Given the description of an element on the screen output the (x, y) to click on. 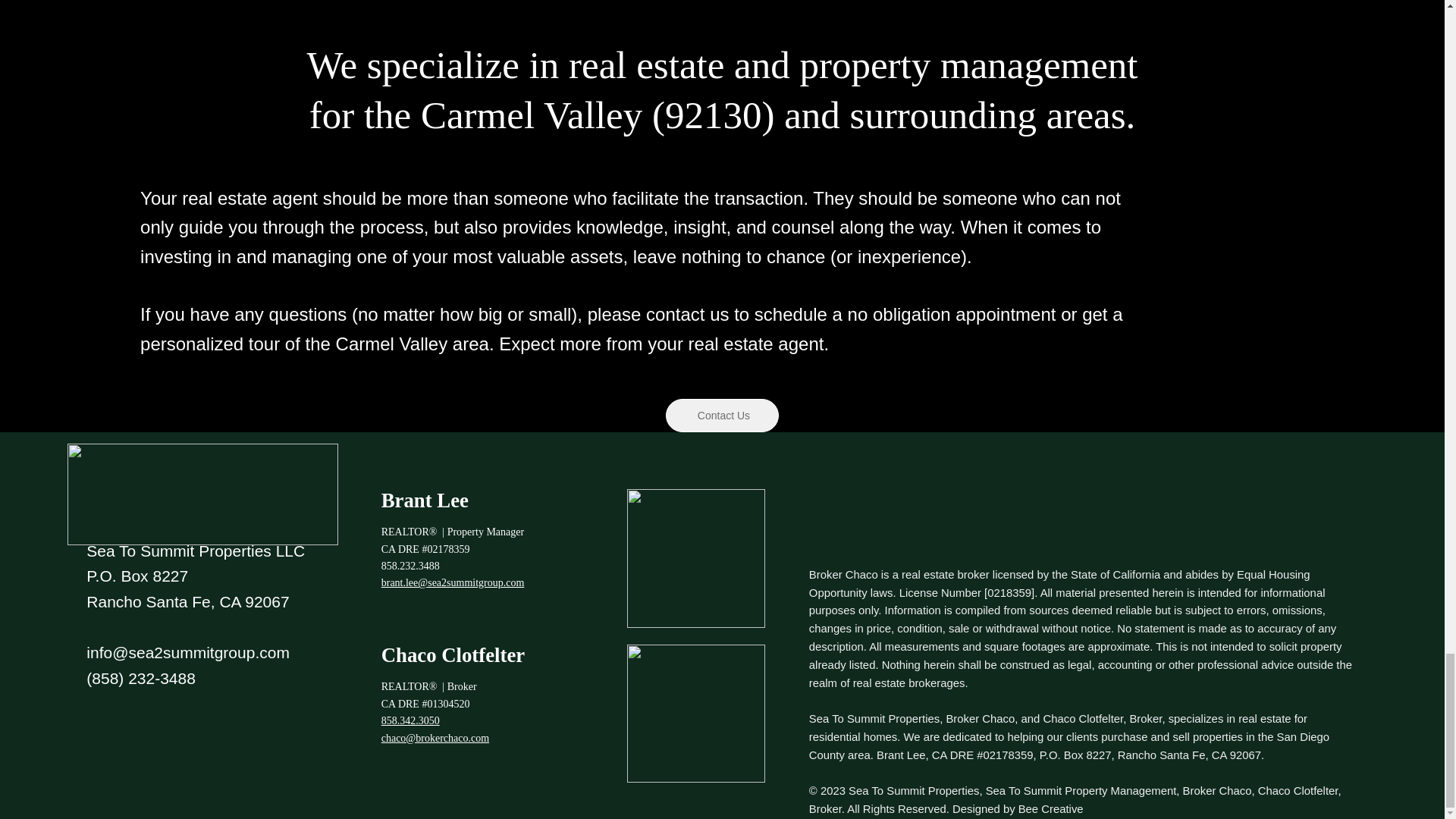
Contact Us (721, 415)
Sea To Summit Properties LLC (194, 550)
